Given the description of an element on the screen output the (x, y) to click on. 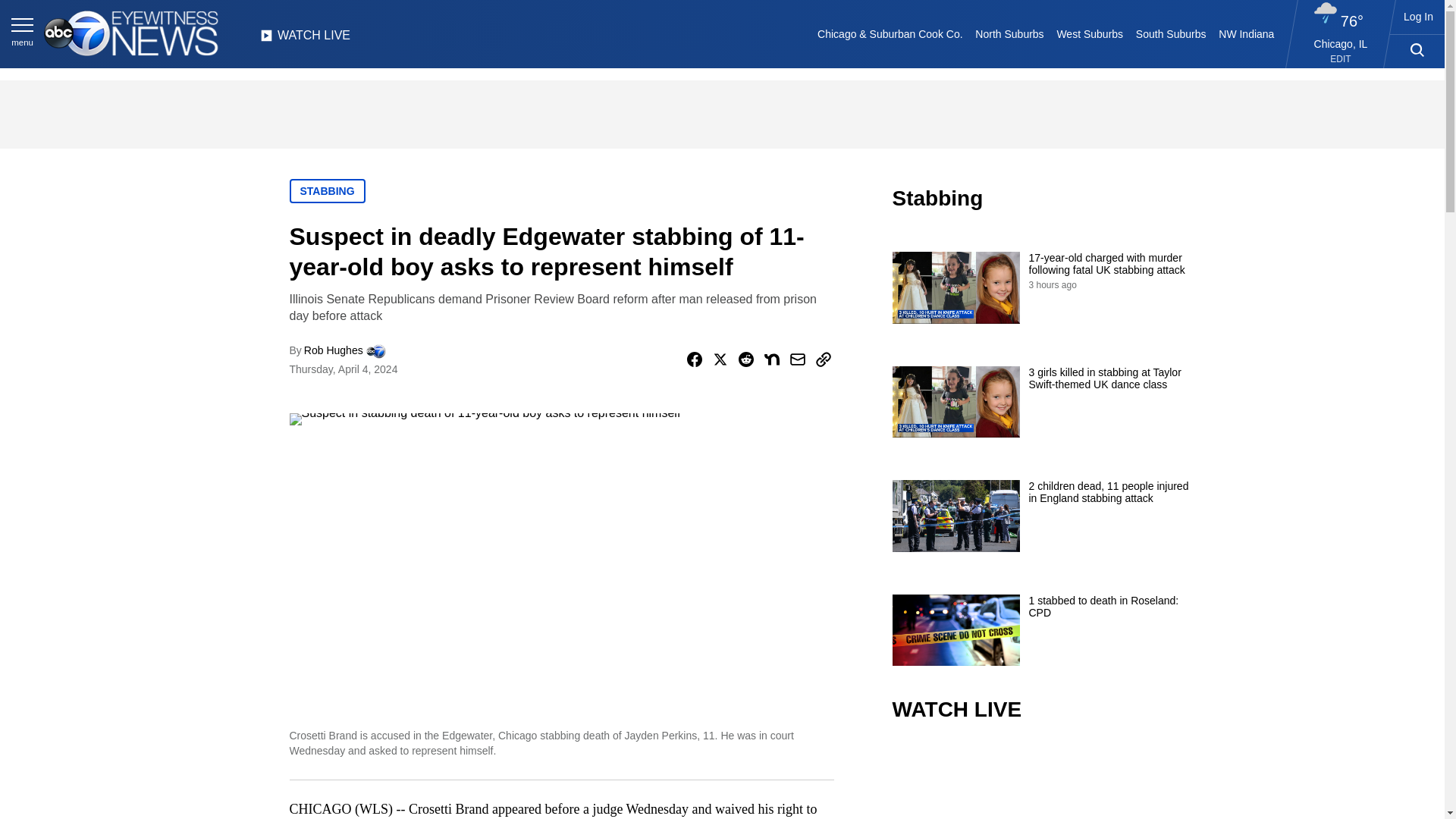
Chicago, IL (1340, 43)
NW Indiana (1246, 33)
West Suburbs (1089, 33)
WATCH LIVE (305, 39)
EDIT (1340, 59)
North Suburbs (1009, 33)
South Suburbs (1170, 33)
video.title (1043, 781)
